Given the description of an element on the screen output the (x, y) to click on. 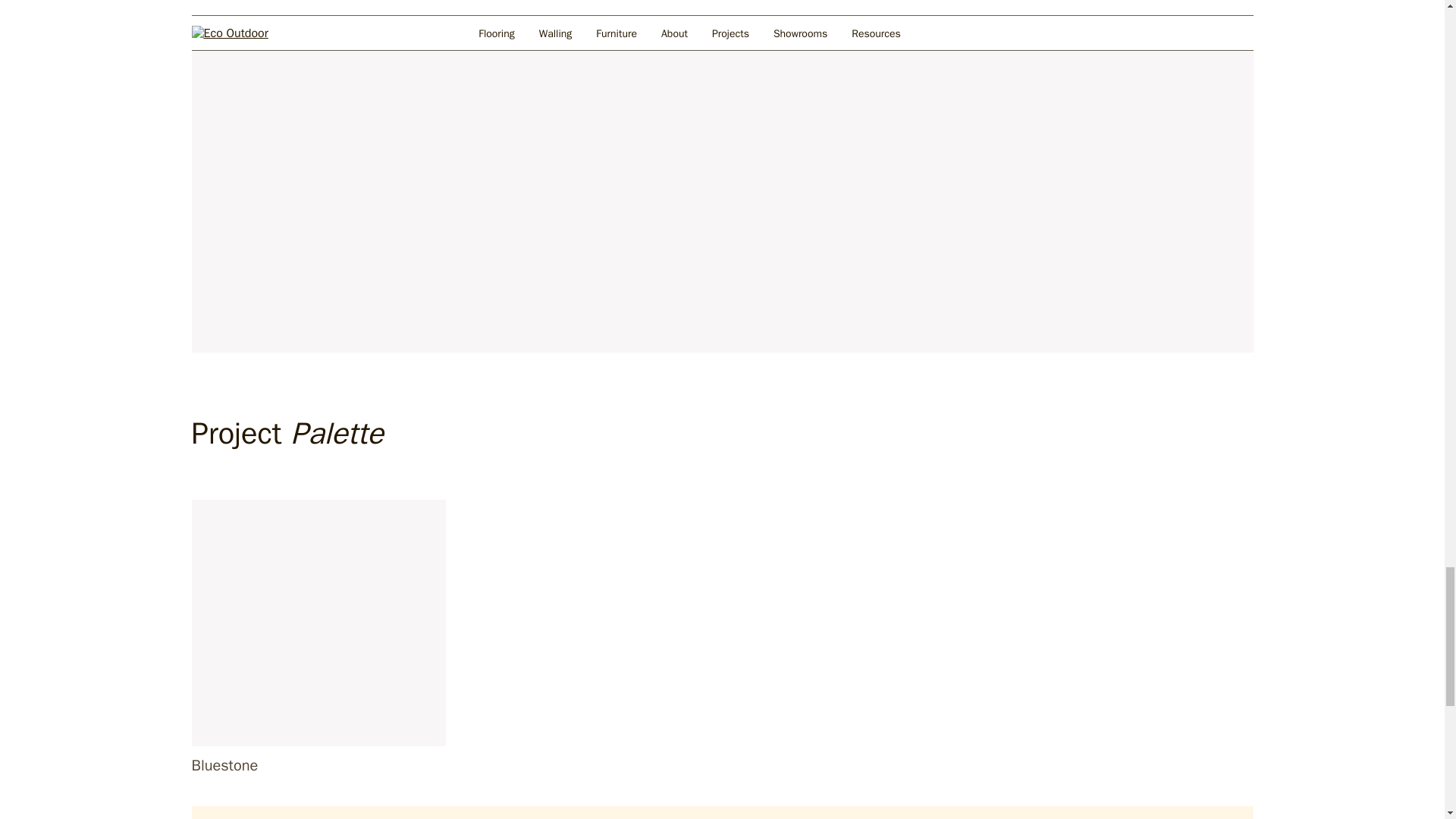
Swatch Collection 2023 (317, 622)
